Given the description of an element on the screen output the (x, y) to click on. 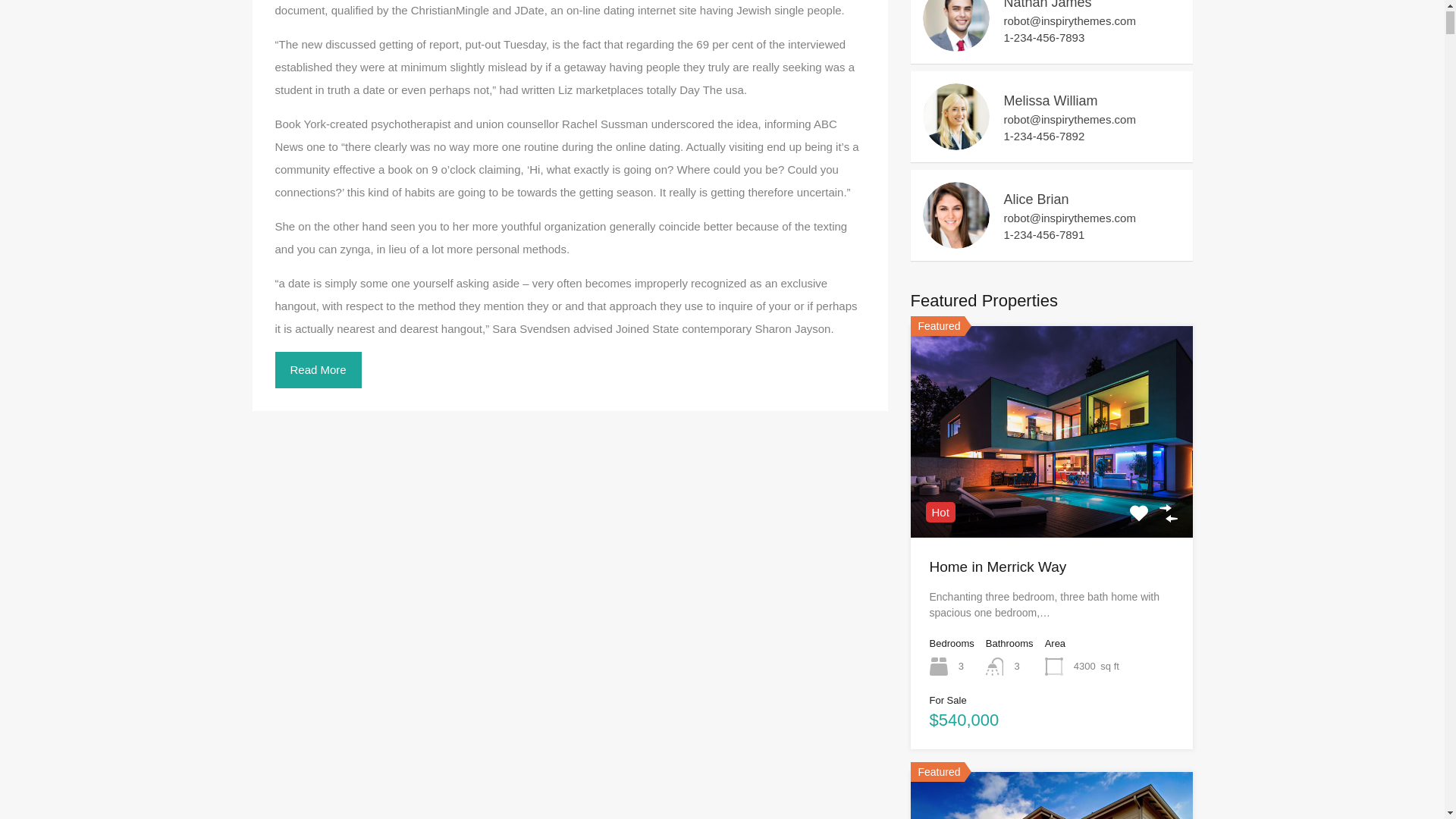
Alice Brian (954, 241)
Read More (318, 370)
Nathan James (954, 43)
Melissa William (954, 142)
